Given the description of an element on the screen output the (x, y) to click on. 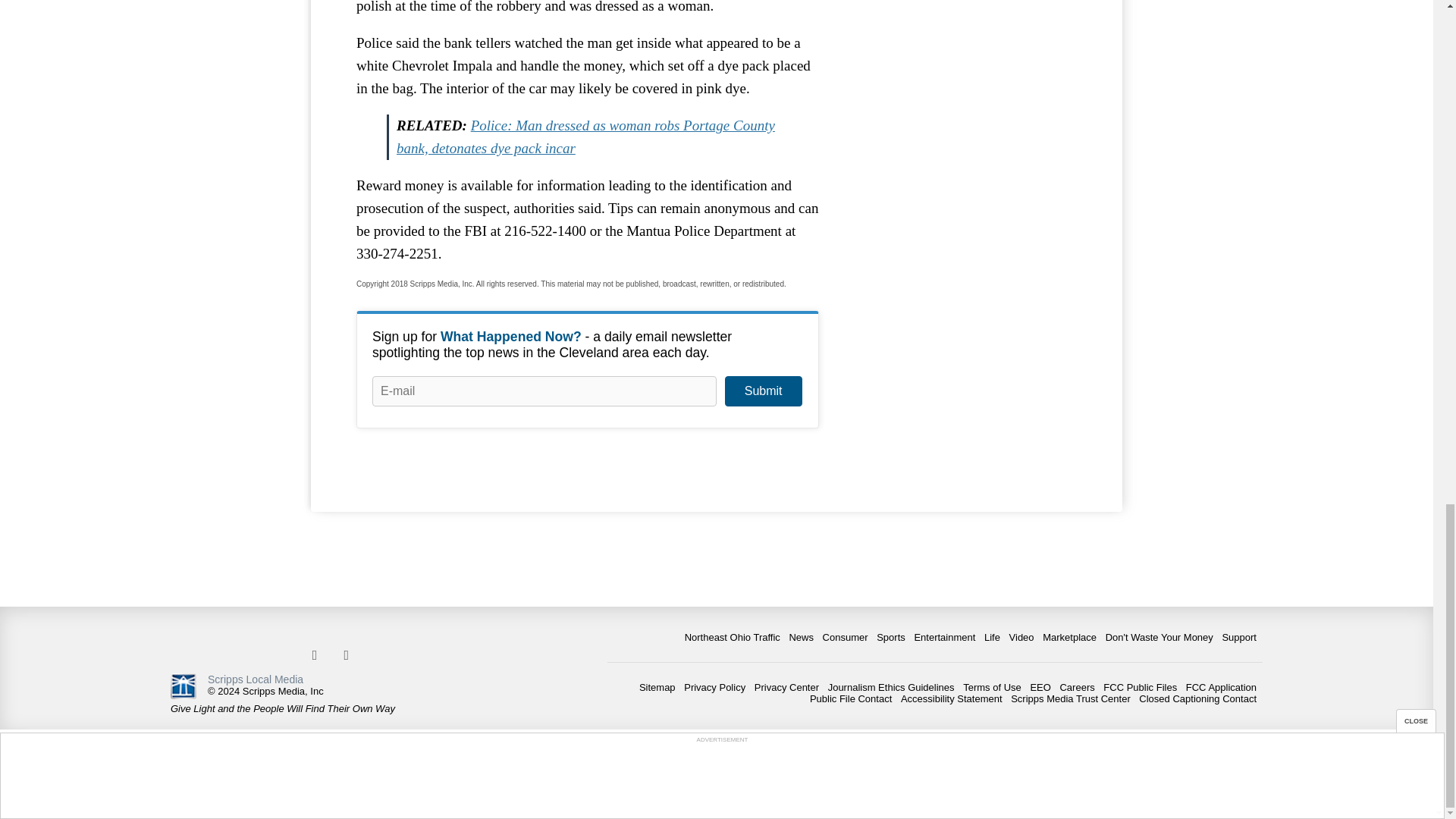
Submit (763, 390)
